Given the description of an element on the screen output the (x, y) to click on. 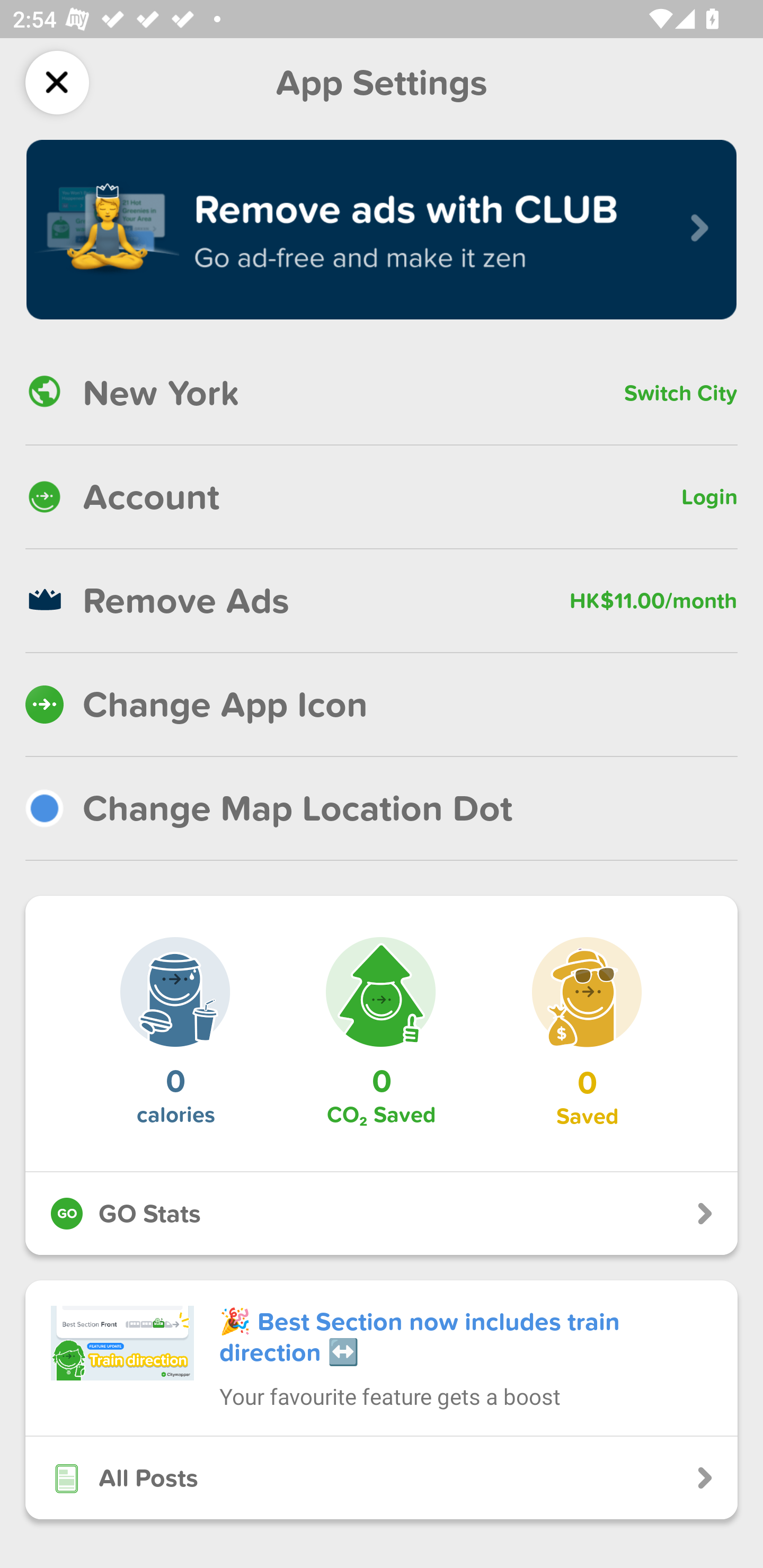
New York Switch City (381, 392)
